Given the description of an element on the screen output the (x, y) to click on. 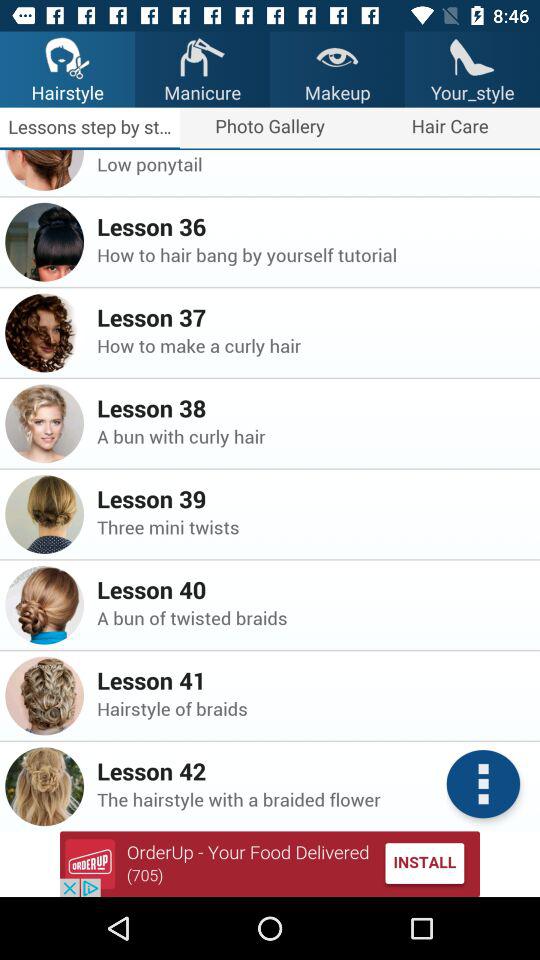
open the app above lesson 40 icon (311, 526)
